Given the description of an element on the screen output the (x, y) to click on. 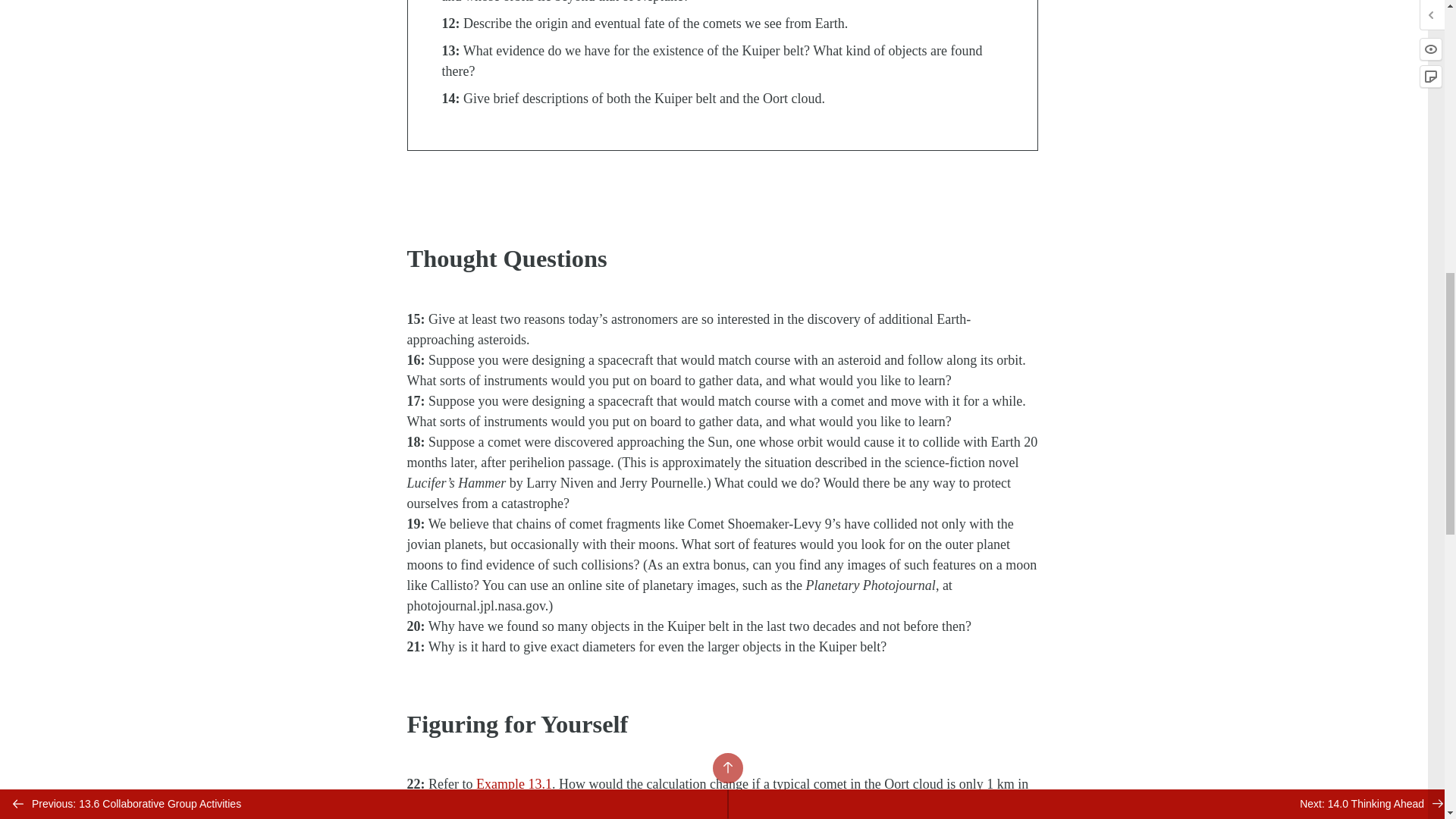
Example 13.1 (513, 783)
Example 13.1 (513, 818)
